Given the description of an element on the screen output the (x, y) to click on. 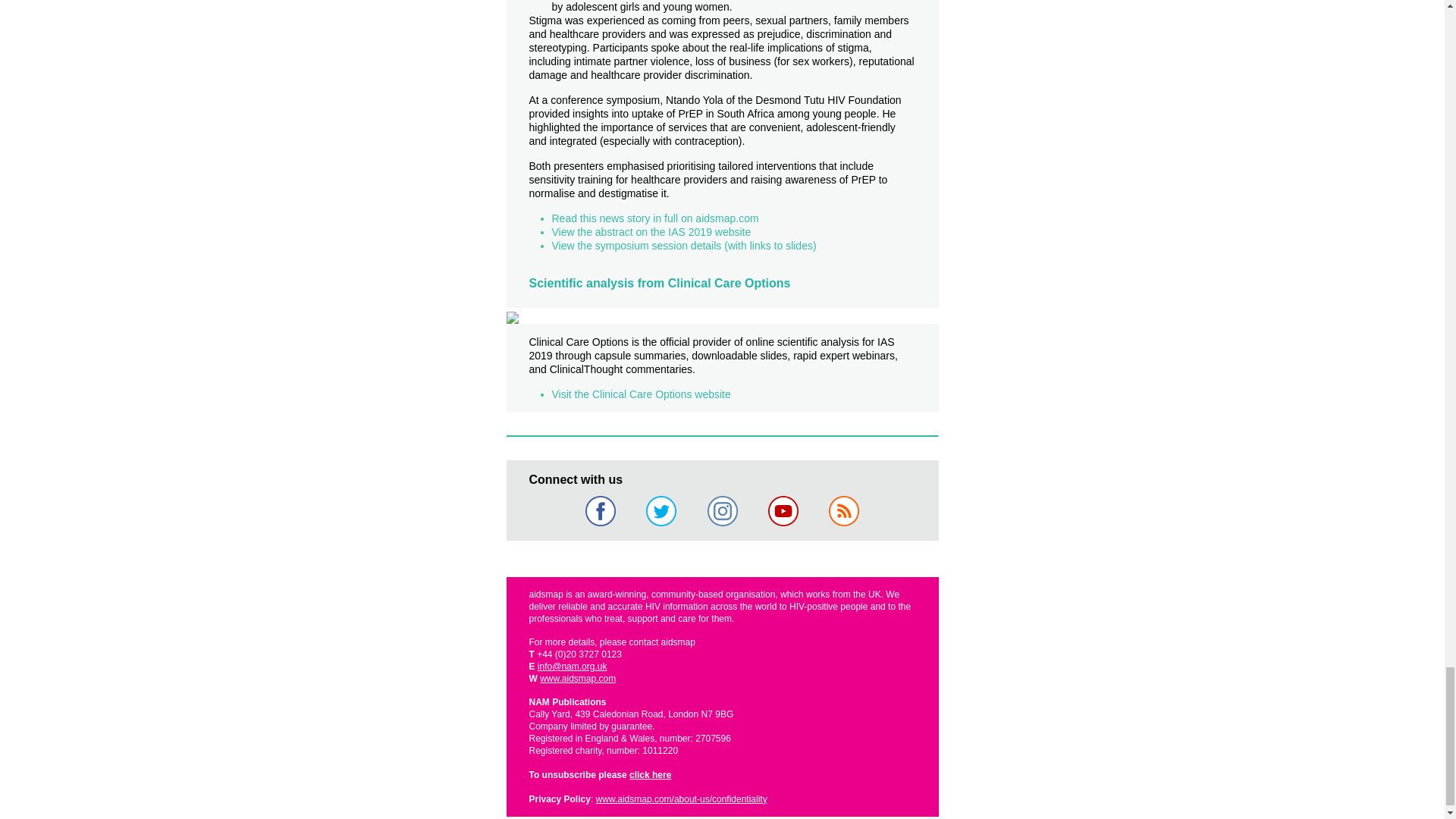
Read this news story in full on aidsmap.com (654, 218)
View the abstract on the IAS 2019 website (651, 232)
Visit the Clinical Care Options website (640, 394)
